Given the description of an element on the screen output the (x, y) to click on. 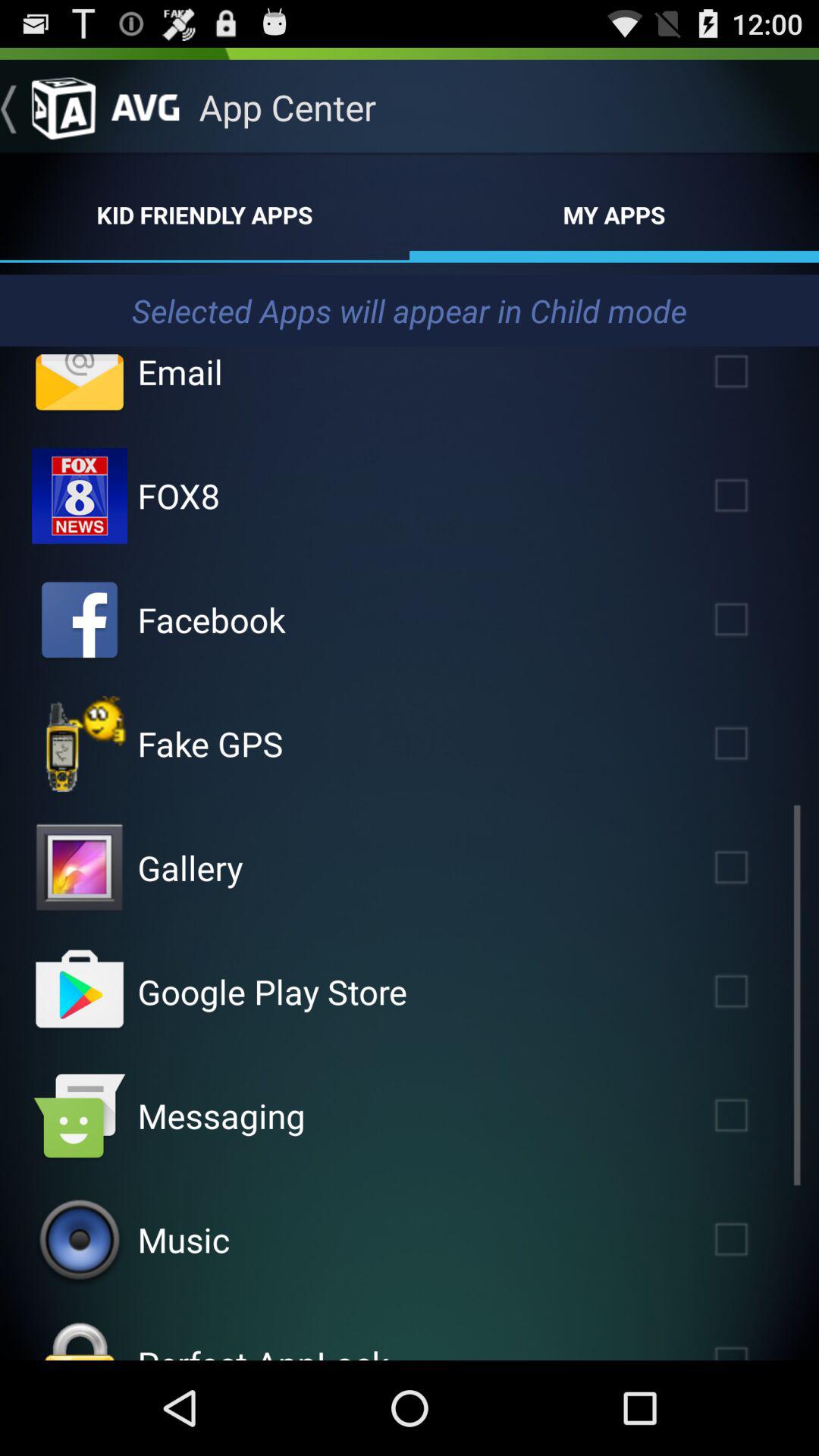
press item below google play store (221, 1115)
